Given the description of an element on the screen output the (x, y) to click on. 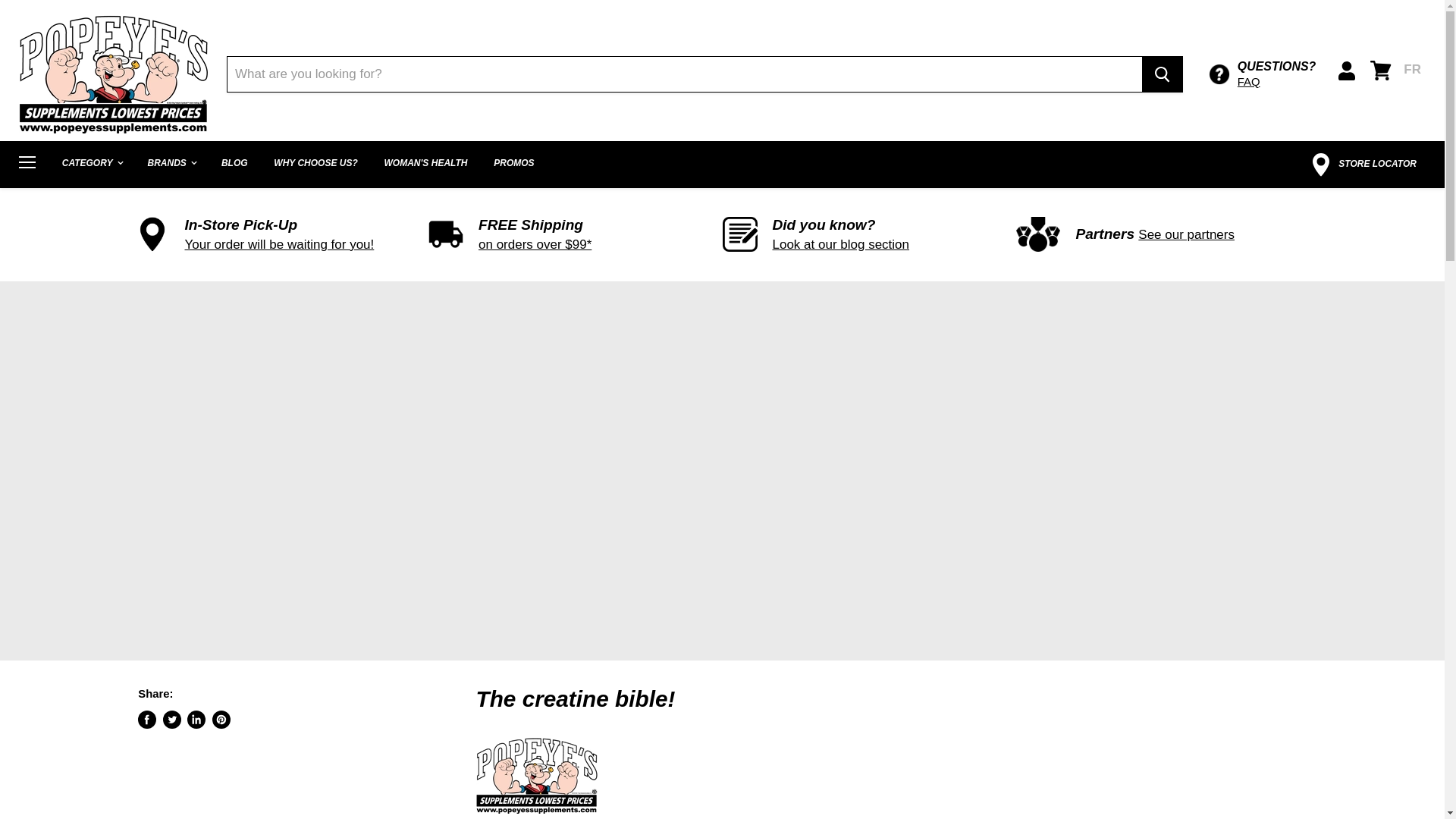
View cart (1380, 70)
FAQ (1276, 82)
FR (1412, 68)
QUESTIONS? (1276, 65)
